Given the description of an element on the screen output the (x, y) to click on. 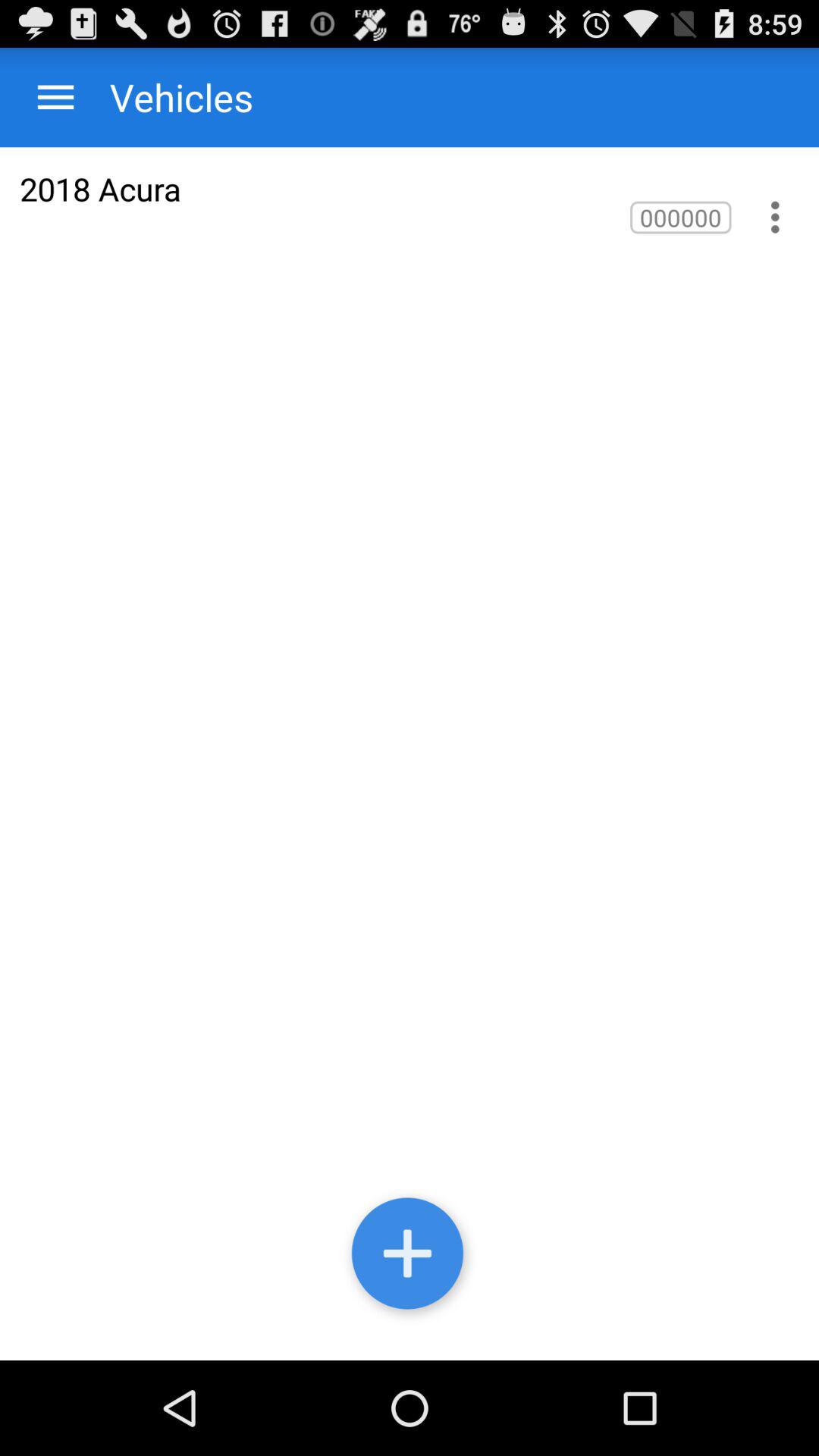
flip to vehicles item (166, 96)
